Given the description of an element on the screen output the (x, y) to click on. 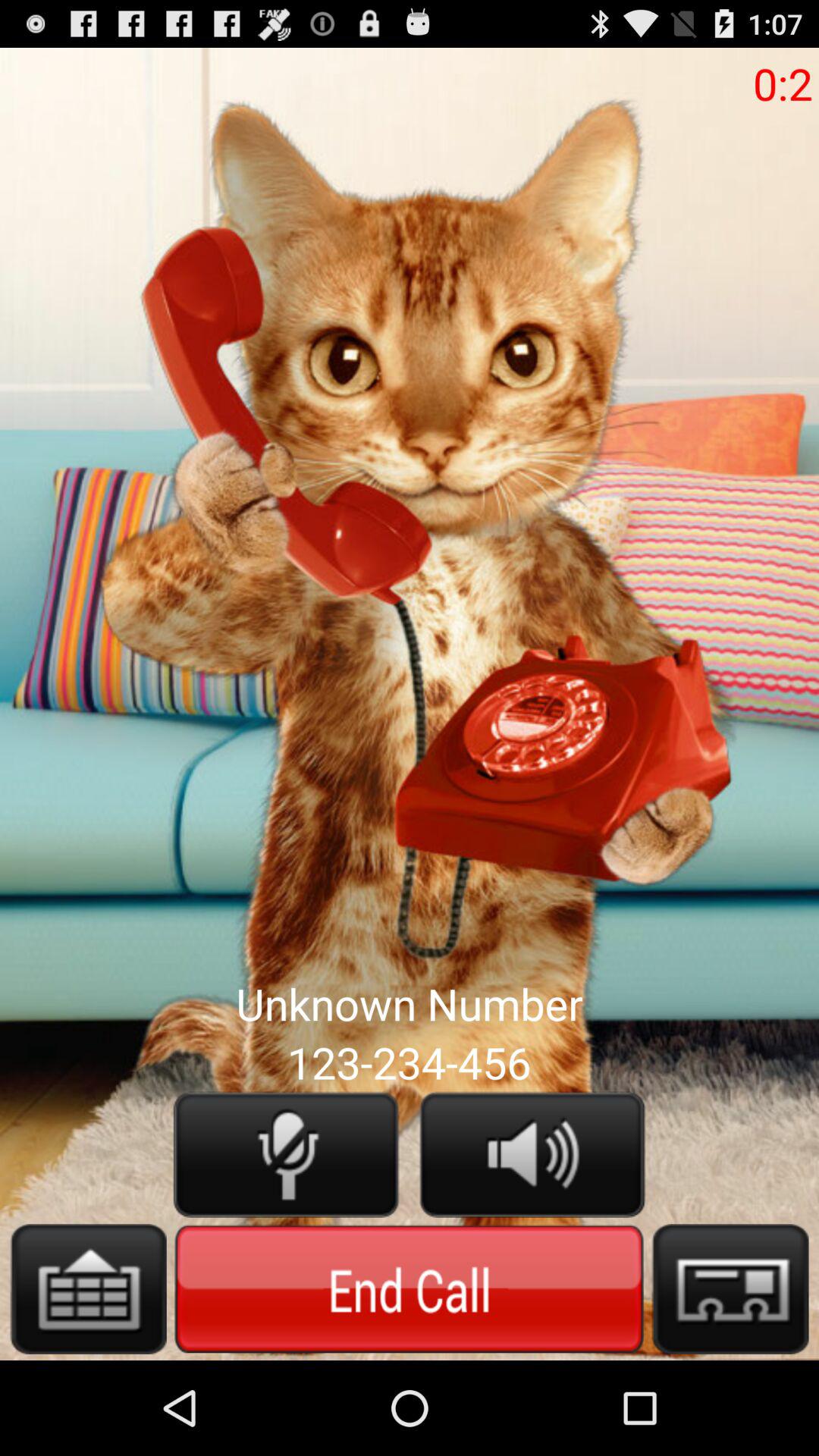
this button in more options (88, 1288)
